Given the description of an element on the screen output the (x, y) to click on. 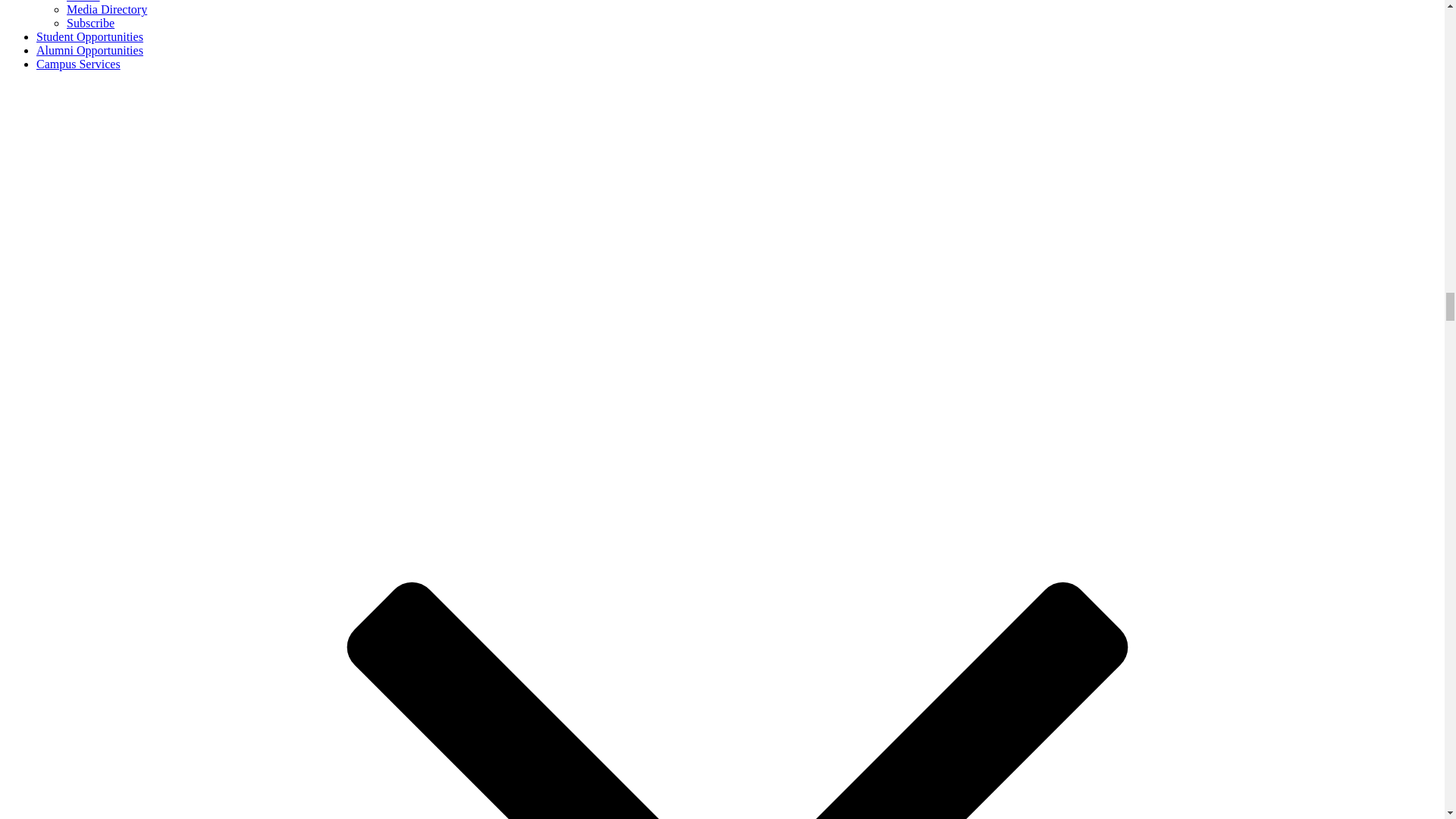
Media Directory (106, 9)
Student Opportunities (89, 36)
Subscribe (90, 22)
Alumni Opportunities (89, 50)
Events (83, 1)
